Given the description of an element on the screen output the (x, y) to click on. 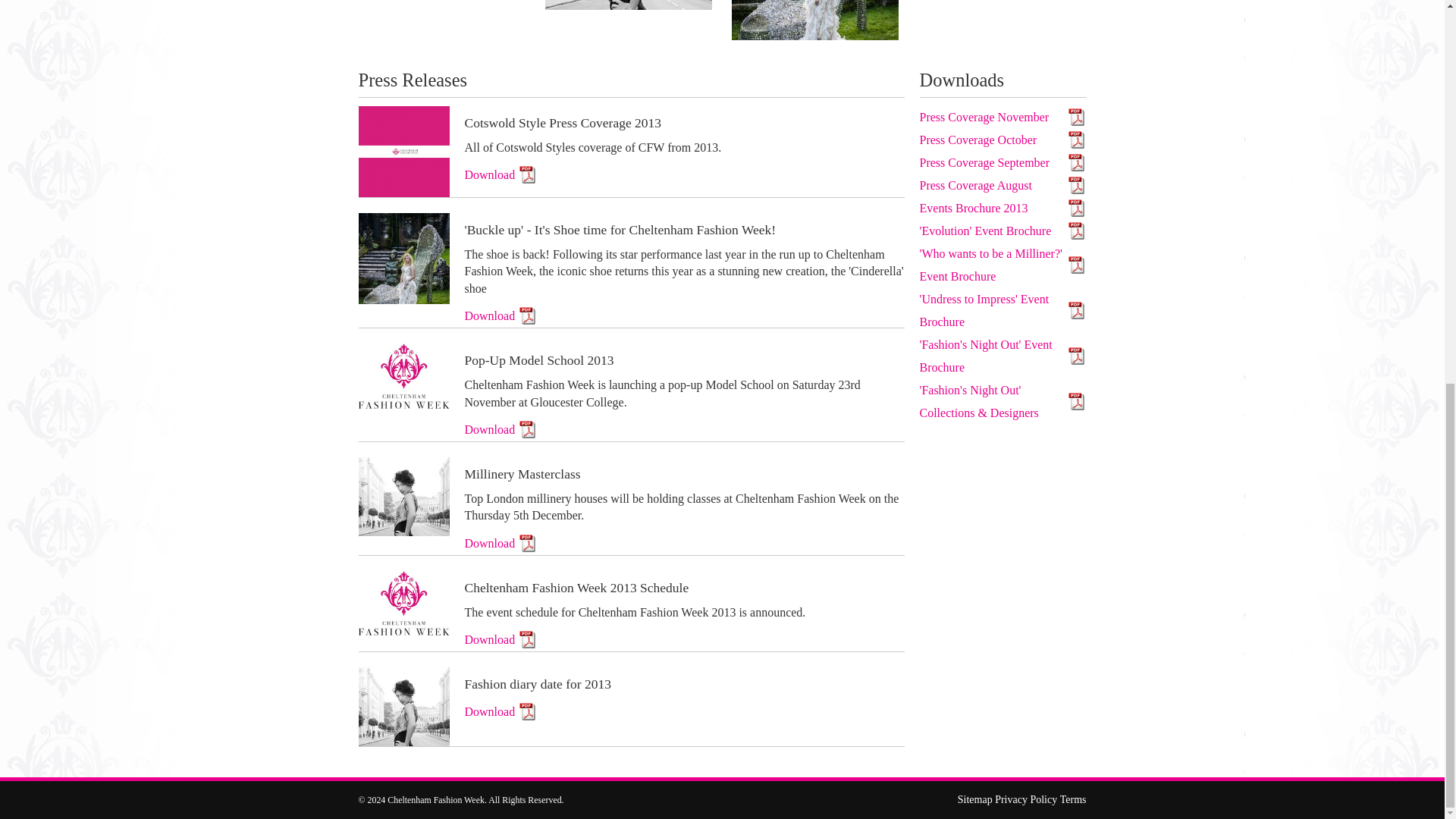
Download (500, 639)
Privacy Policy (1025, 799)
Download (500, 543)
Download (500, 712)
Press Coverage August (1002, 185)
Download (500, 174)
Events Brochure 2013 (1002, 208)
'Undress to Impress' Event Brochure (1002, 310)
Press Coverage November (1002, 117)
Press Coverage September (1002, 162)
'Who wants to be a Milliner?' Event Brochure (1002, 265)
Press Coverage October (1002, 139)
Terms (1072, 799)
Download (500, 315)
'Evolution' Event Brochure (1002, 231)
